Given the description of an element on the screen output the (x, y) to click on. 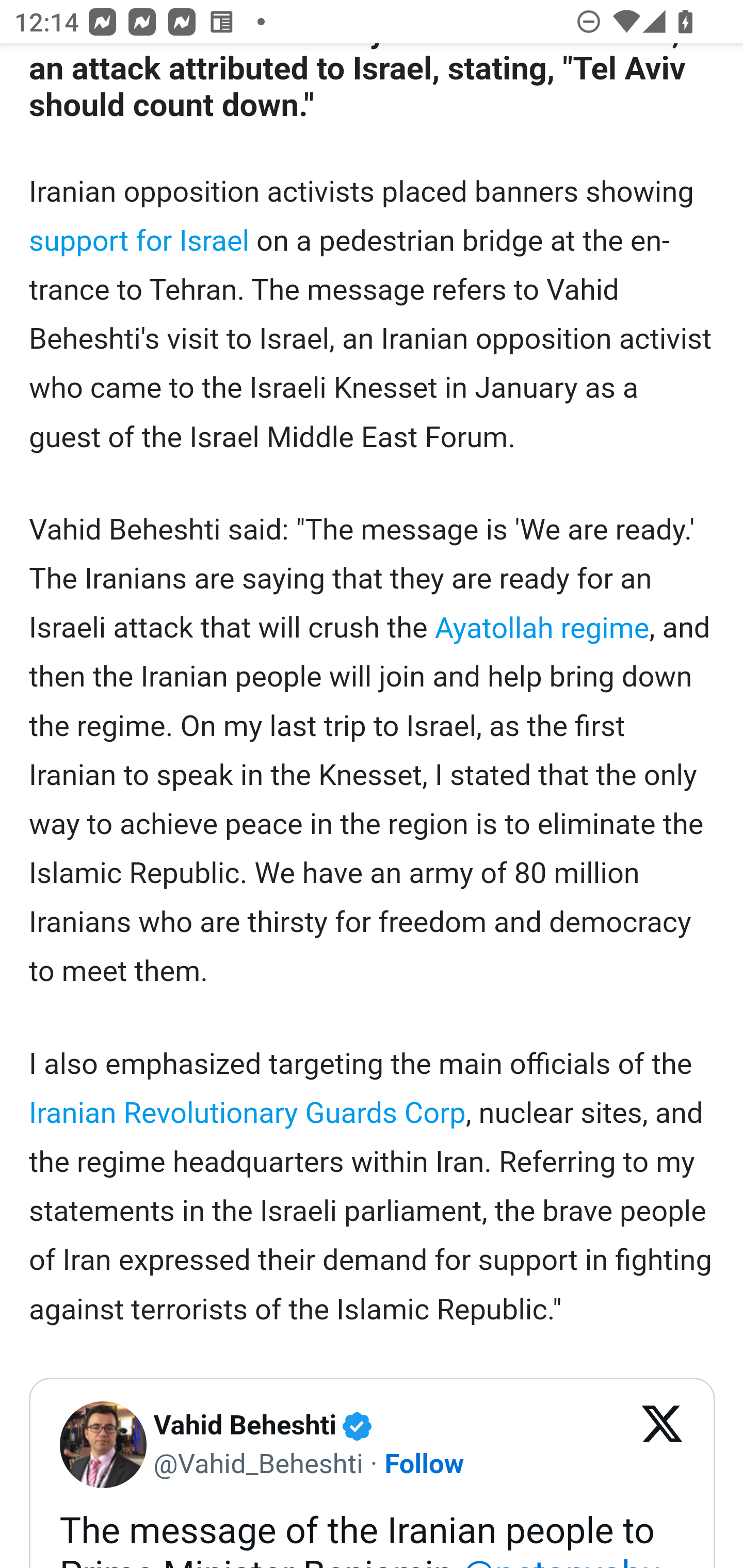
support for Israel (139, 240)
Ayatollah regime (541, 627)
Iranian Revolutionary Guards Corp (246, 1112)
View on X (662, 1444)
@Vahid_Beheshti (257, 1462)
Follow (423, 1462)
